Given the description of an element on the screen output the (x, y) to click on. 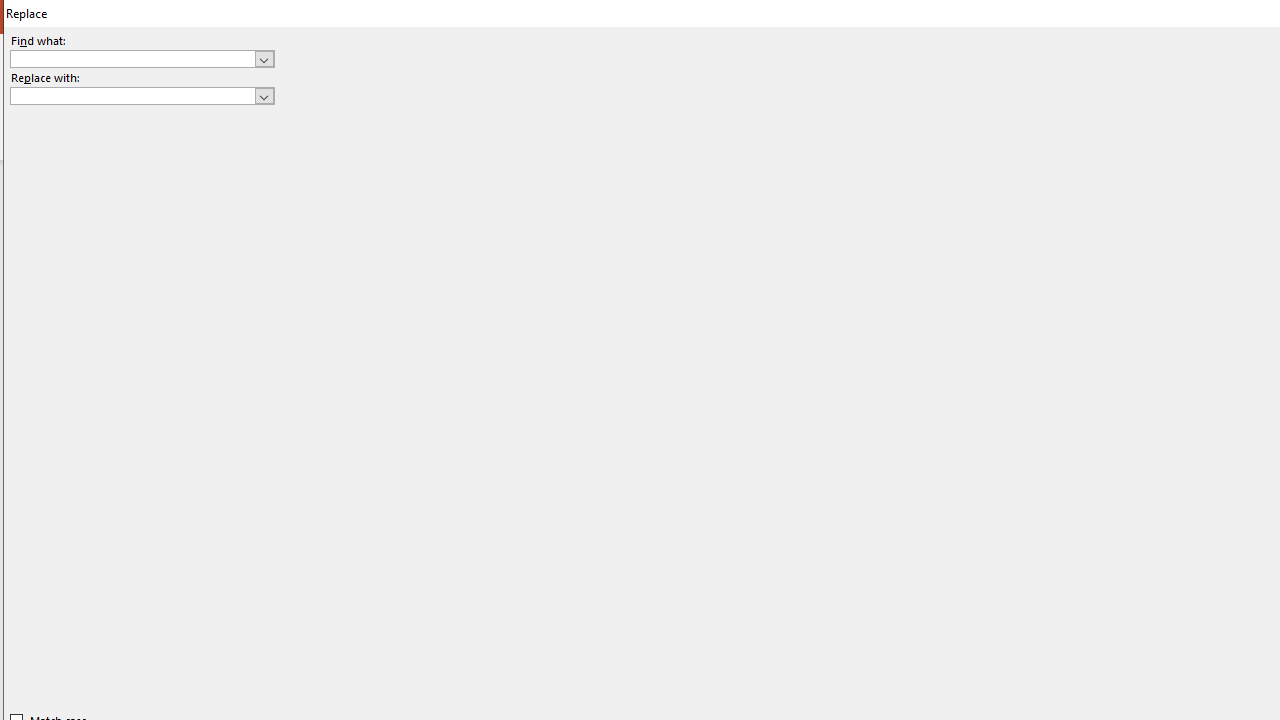
Find what (142, 58)
Replace with (142, 96)
Find what (132, 58)
Replace with (132, 95)
